Given the description of an element on the screen output the (x, y) to click on. 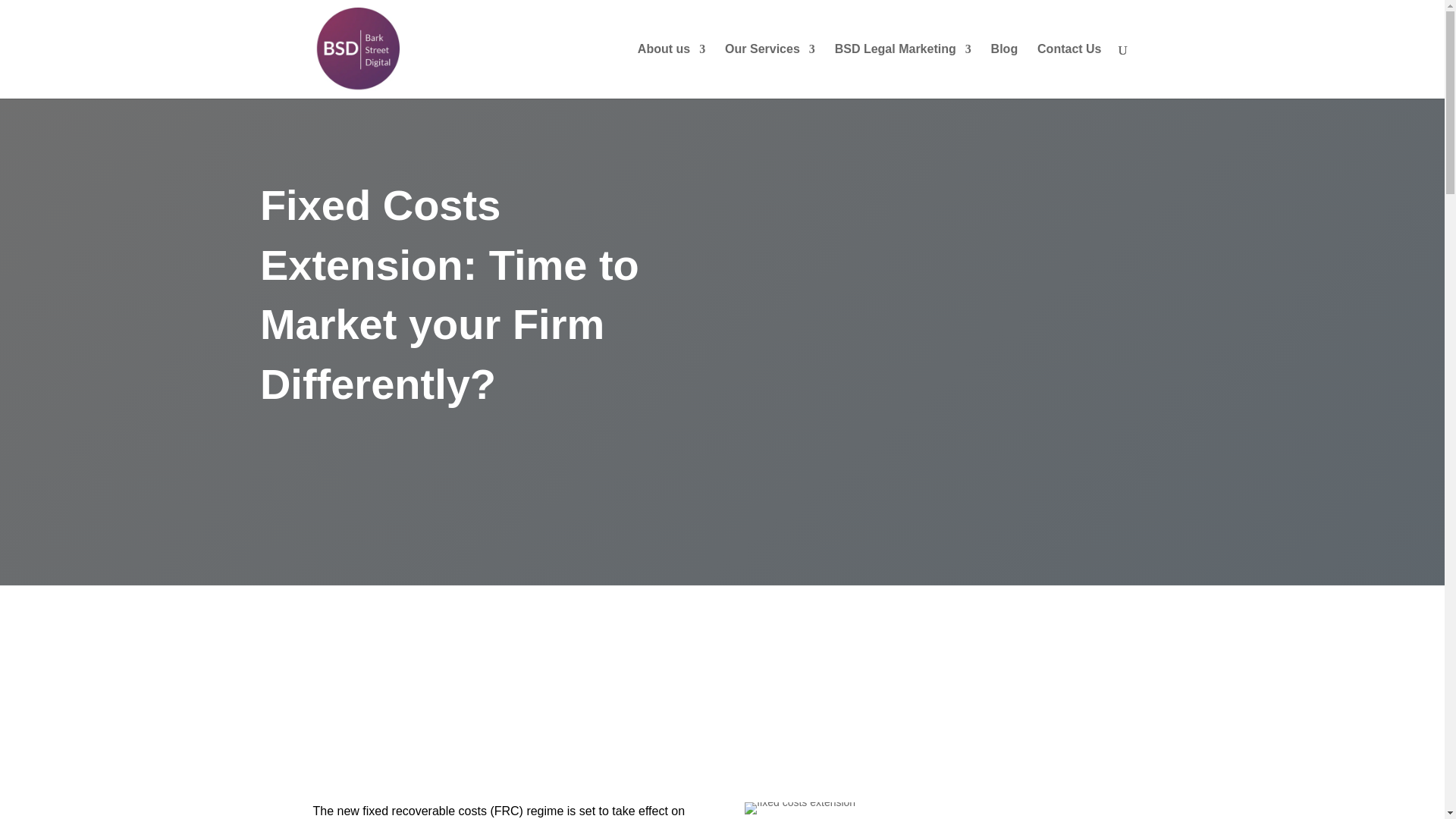
Contact Us (1068, 71)
BSD Legal Marketing (902, 71)
About us (670, 71)
Our Services (770, 71)
